Given the description of an element on the screen output the (x, y) to click on. 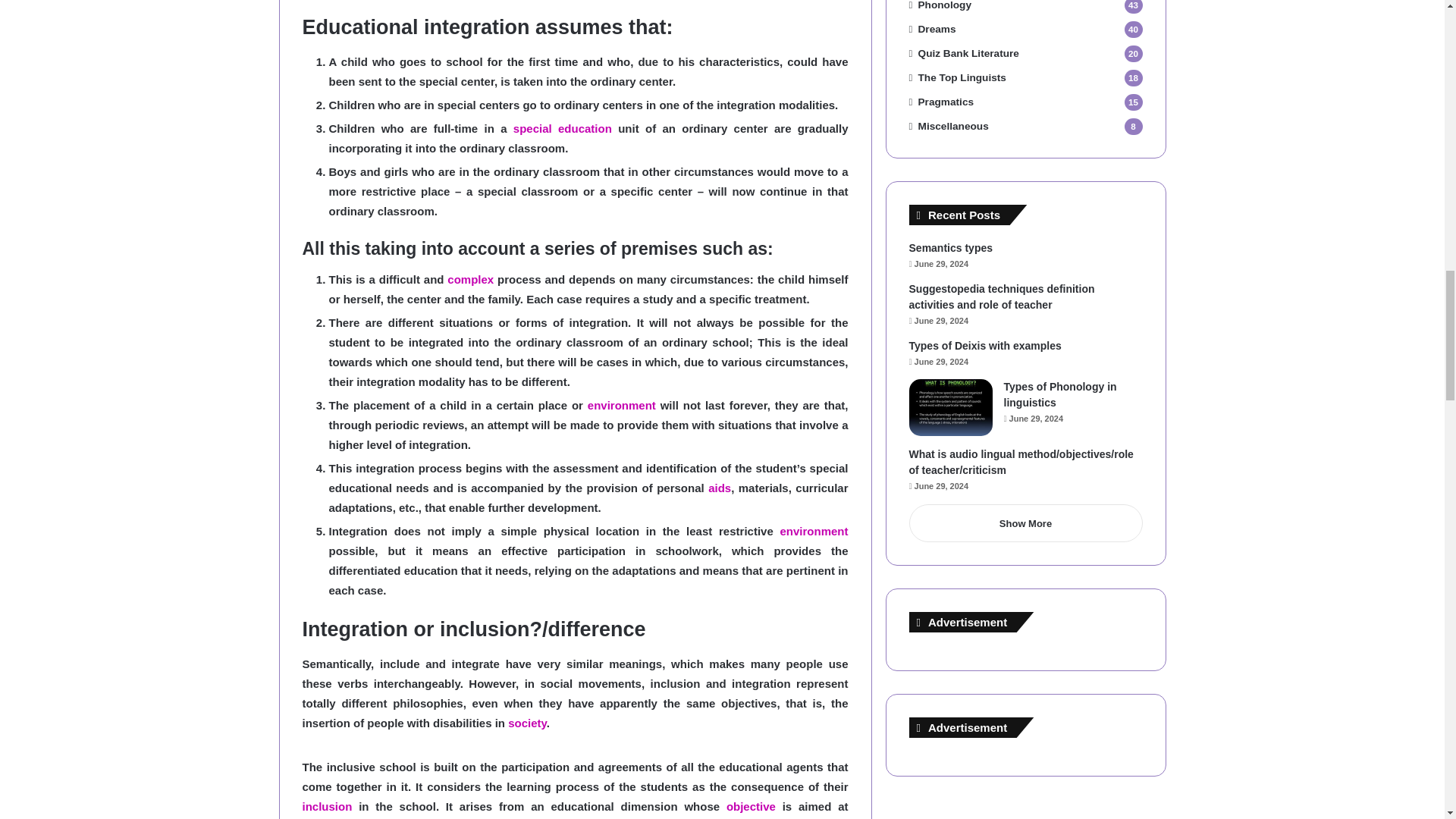
environment (622, 404)
environment (622, 404)
special education (562, 128)
aids (718, 487)
objective (751, 806)
complex (469, 278)
society (527, 722)
complex (469, 278)
special education (562, 128)
inclusion (326, 806)
environment (812, 530)
